Given the description of an element on the screen output the (x, y) to click on. 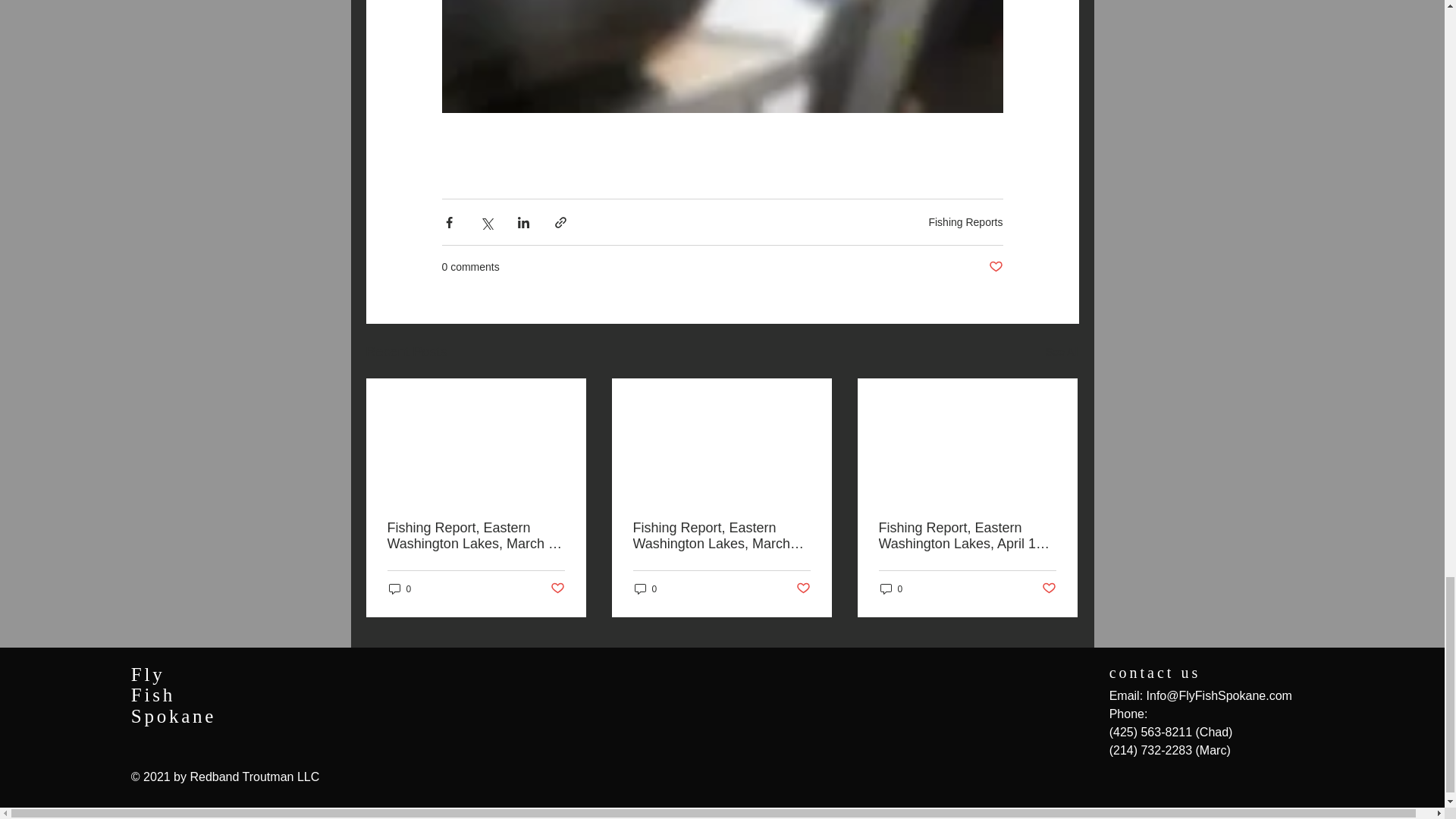
Post not marked as liked (1049, 588)
Fishing Report, Eastern Washington Lakes, March 24 2023 (475, 536)
Post not marked as liked (803, 588)
Fishing Report, Eastern Washington Lakes, April 17th 2023 (966, 536)
Fishing Reports (965, 222)
Post not marked as liked (995, 267)
0 (644, 588)
Fishing Report, Eastern Washington Lakes, March 31st 2023 (720, 536)
Fly (148, 674)
Post not marked as liked (557, 588)
0 (890, 588)
0 (399, 588)
See All (1061, 352)
